Given the description of an element on the screen output the (x, y) to click on. 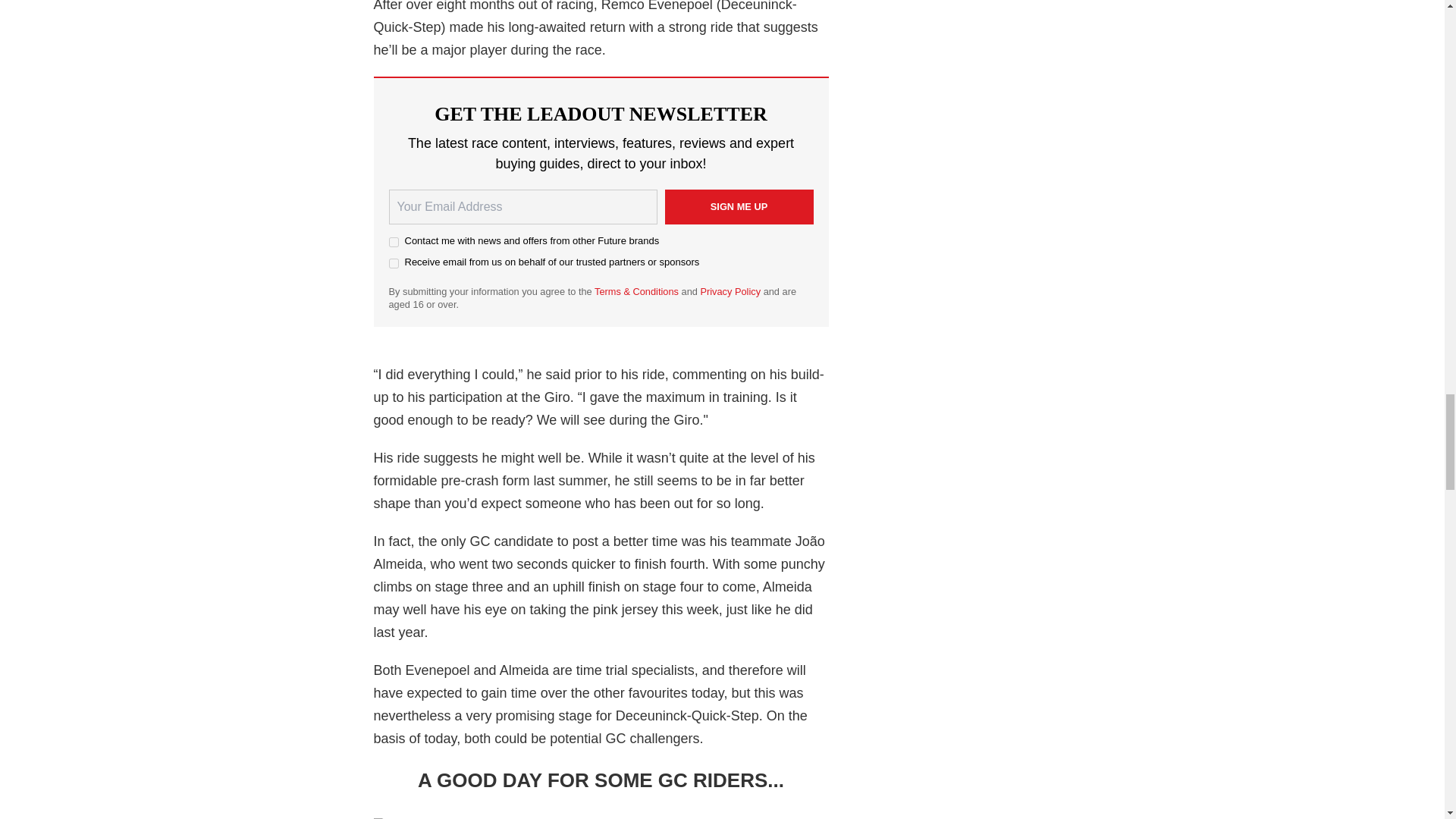
on (392, 242)
Sign me up (737, 206)
on (392, 263)
